Given the description of an element on the screen output the (x, y) to click on. 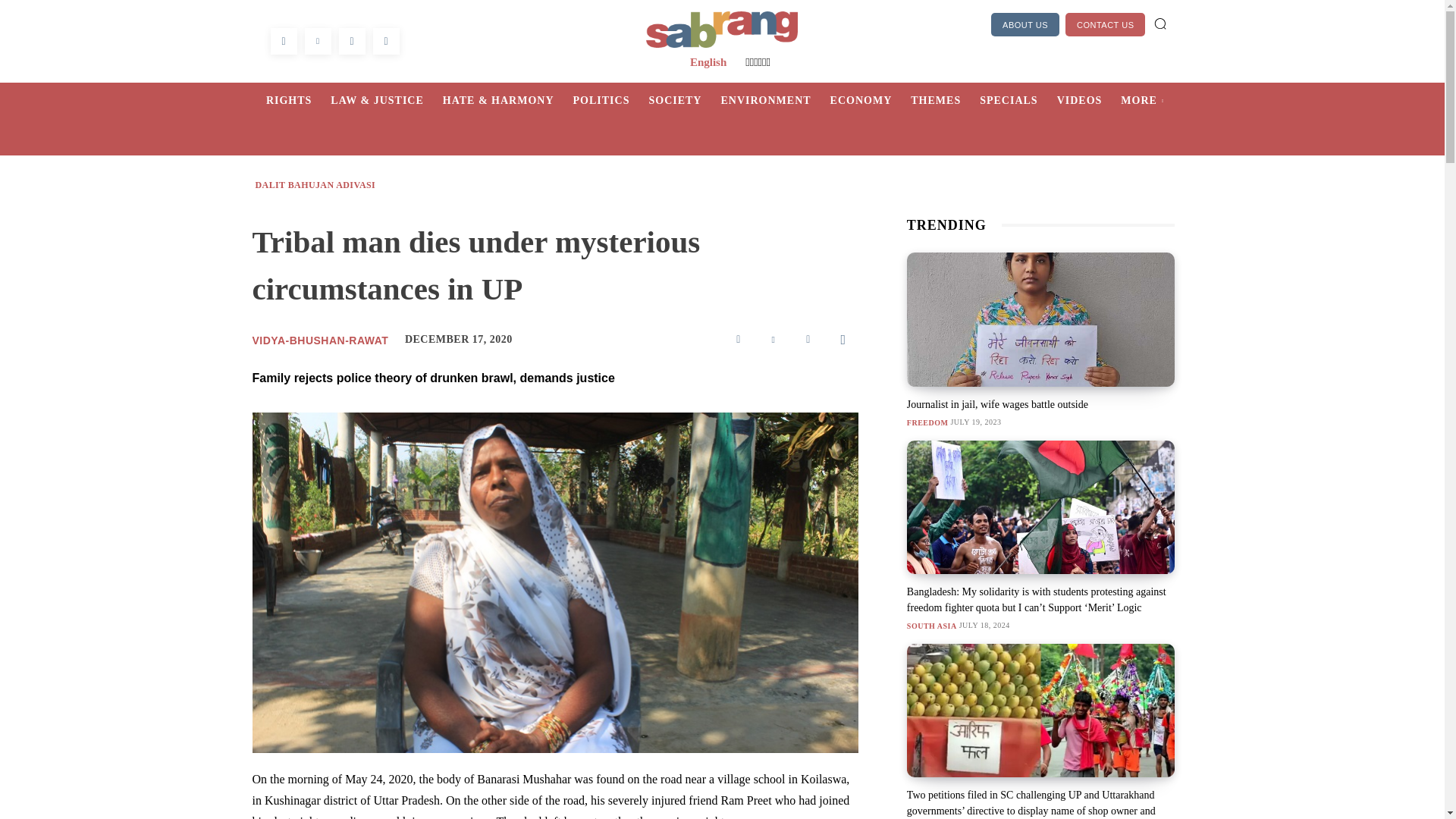
WhatsApp (351, 40)
POLITICS (611, 100)
CONTACT US (1105, 24)
Twitter (773, 338)
Journalist in jail, wife wages battle outside (997, 404)
WhatsApp (843, 338)
SOCIETY (683, 100)
ABOUT US (1025, 24)
ECONOMY (870, 100)
Journalist in jail, wife wages battle outside (1040, 318)
THEMES (945, 100)
Facebook (738, 338)
Youtube (385, 40)
English (708, 61)
ENVIRONMENT (774, 100)
